Given the description of an element on the screen output the (x, y) to click on. 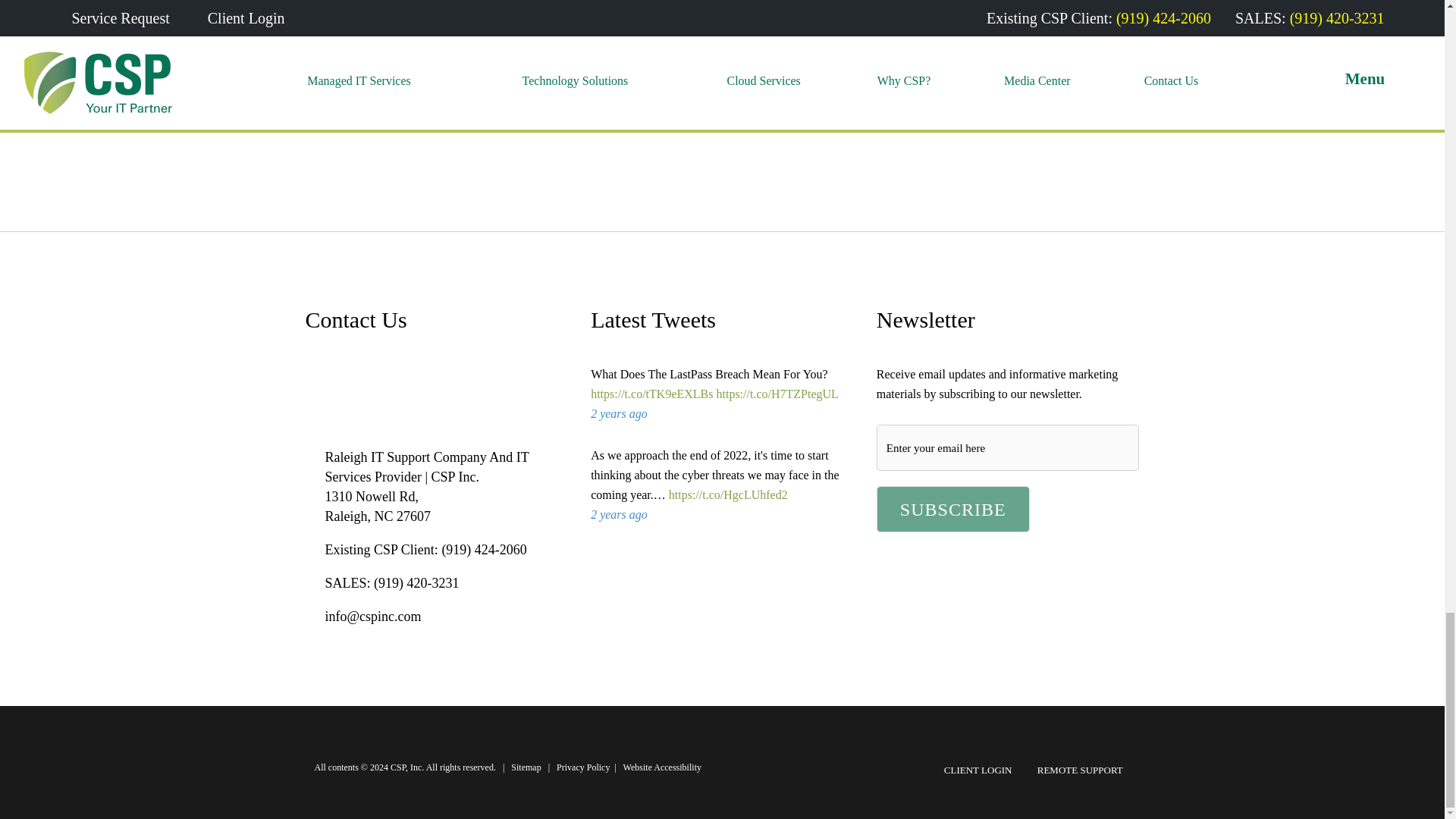
Subscribe (952, 509)
